Given the description of an element on the screen output the (x, y) to click on. 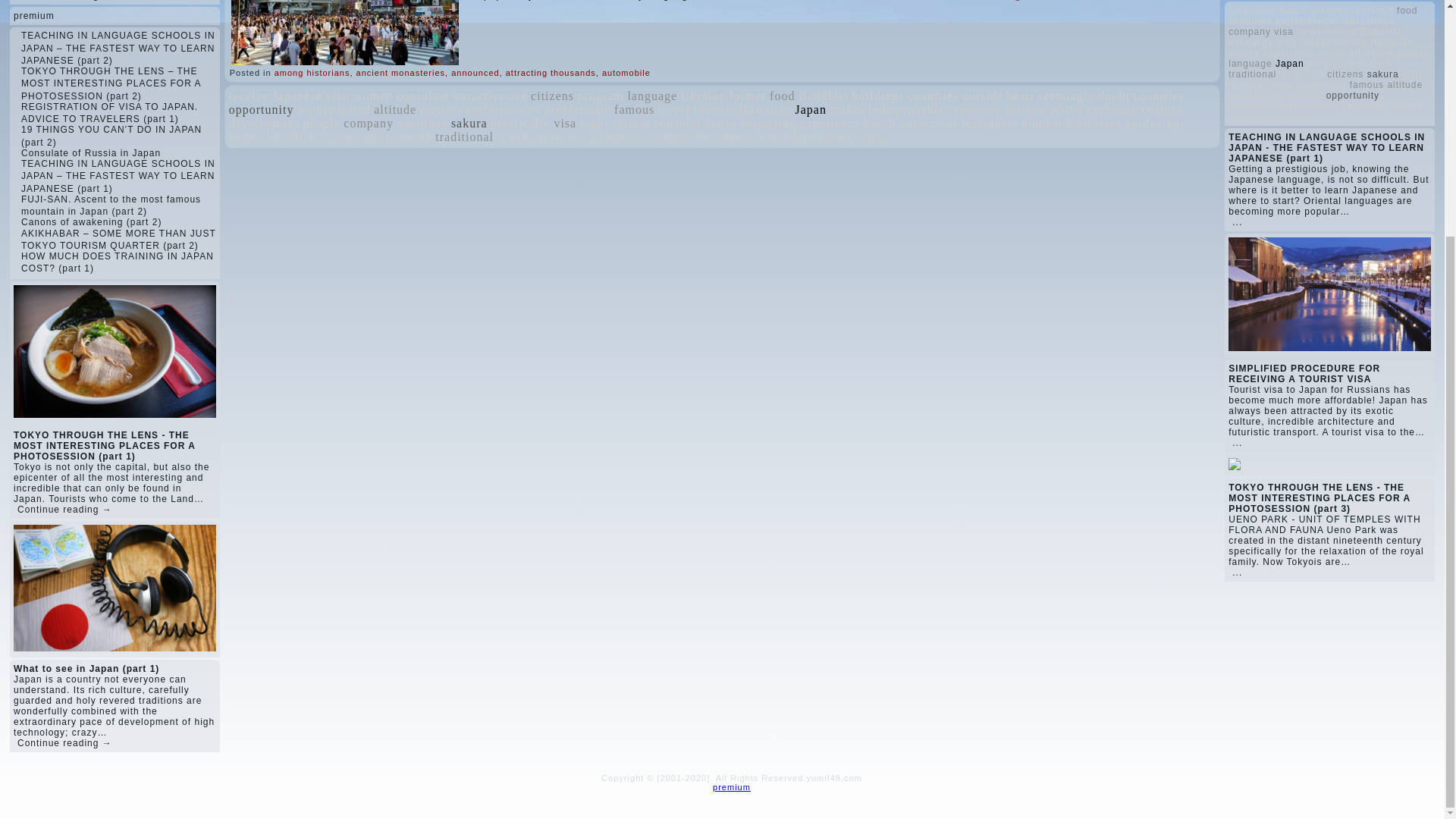
visit (337, 95)
premium (34, 15)
Consulate of Russia in Japan (90, 153)
ancient monasteries (400, 71)
automobile (626, 71)
receive (248, 95)
among historians (312, 71)
attracting thousands (550, 71)
Consulate of Russia in Japan (90, 153)
Japanese (297, 95)
